Given the description of an element on the screen output the (x, y) to click on. 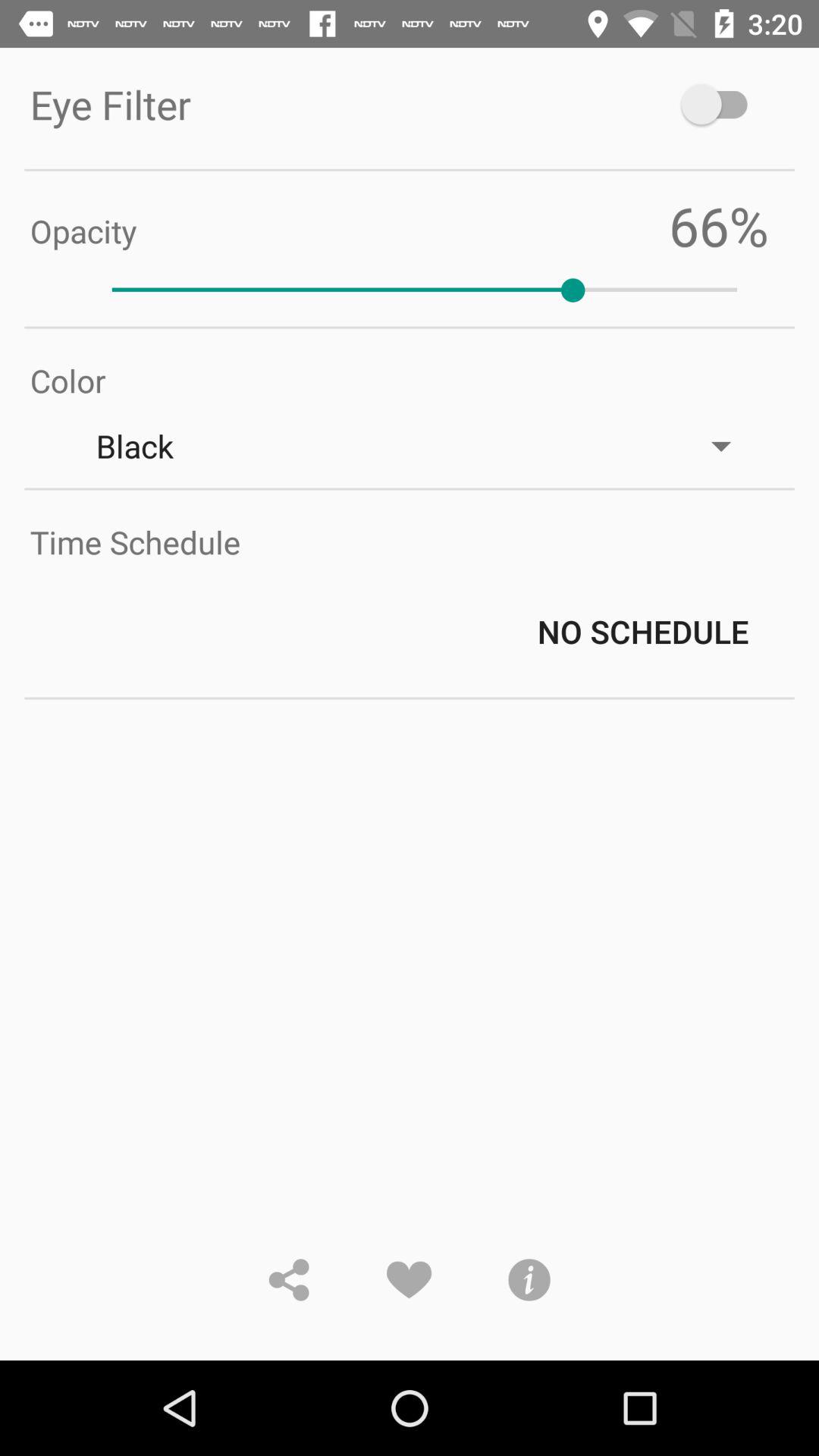
jump to the no schedule (424, 631)
